Given the description of an element on the screen output the (x, y) to click on. 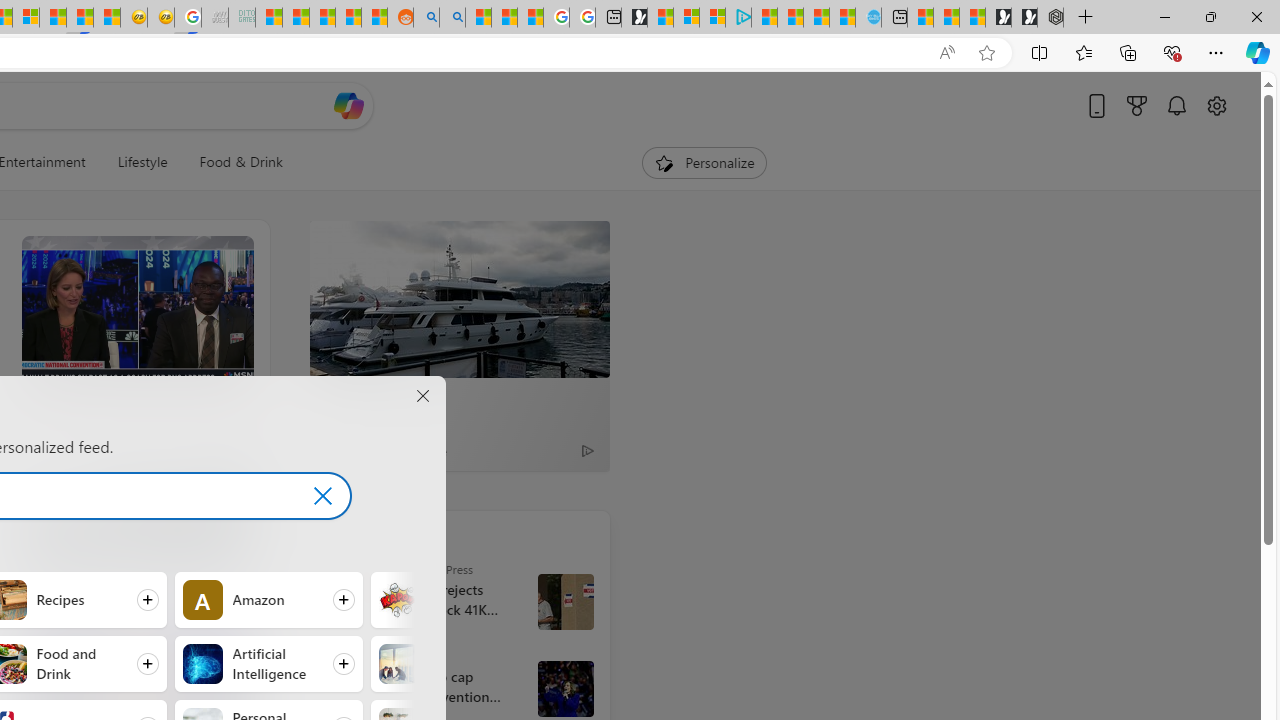
TOP (331, 534)
Reuters (349, 655)
MSN (79, 17)
DITOGAMES AG Imprint - Sleeping (241, 17)
Nordace - Nordace Siena Is Not An Ordinary Backpack (1050, 17)
Ad (338, 450)
Follow Business (464, 663)
Fix Boat Bliss (136, 504)
Follow Artificial Intelligence (268, 663)
